Given the description of an element on the screen output the (x, y) to click on. 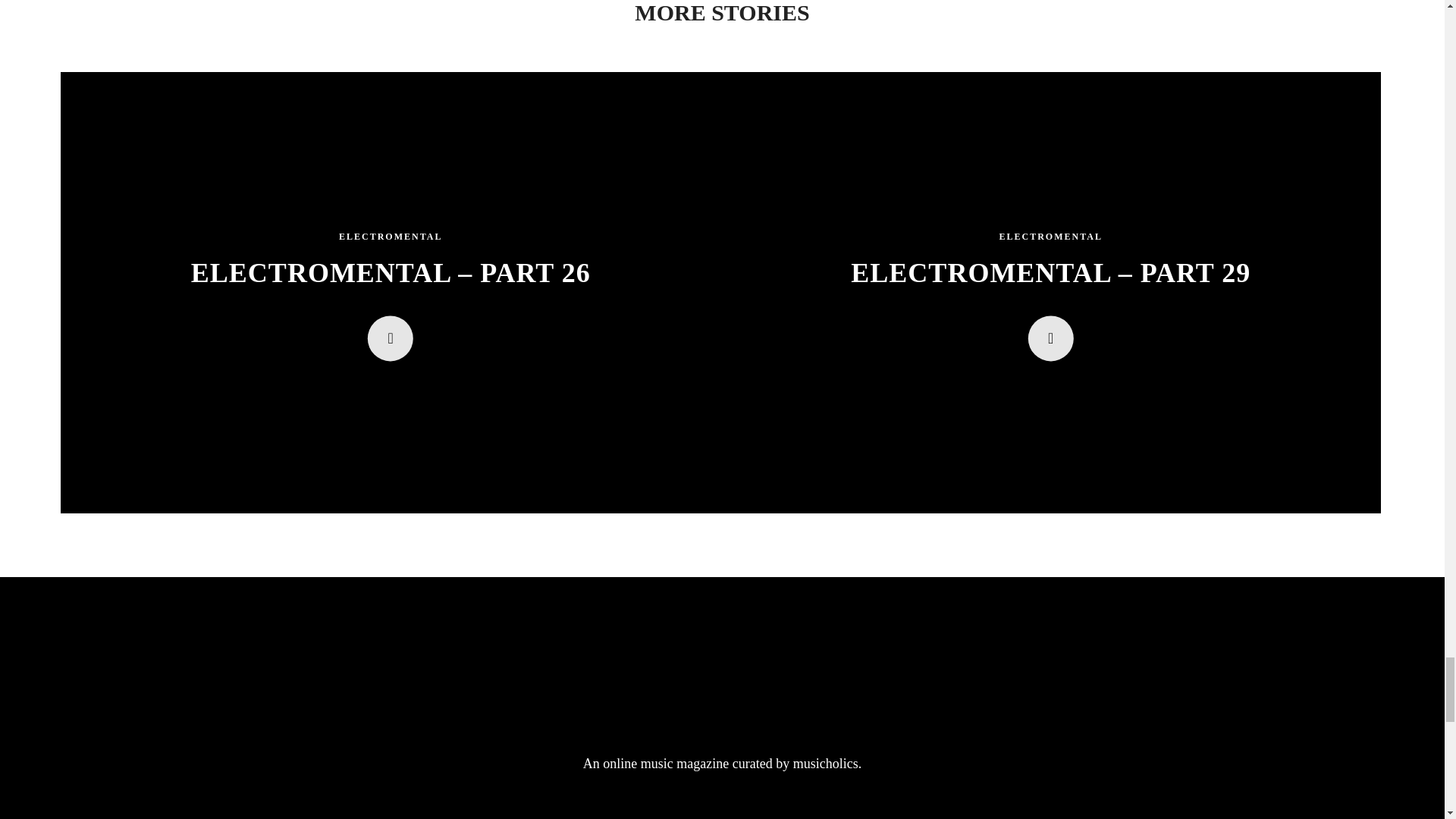
View all posts in electromental (1050, 237)
View all posts in electromental (390, 237)
